Given the description of an element on the screen output the (x, y) to click on. 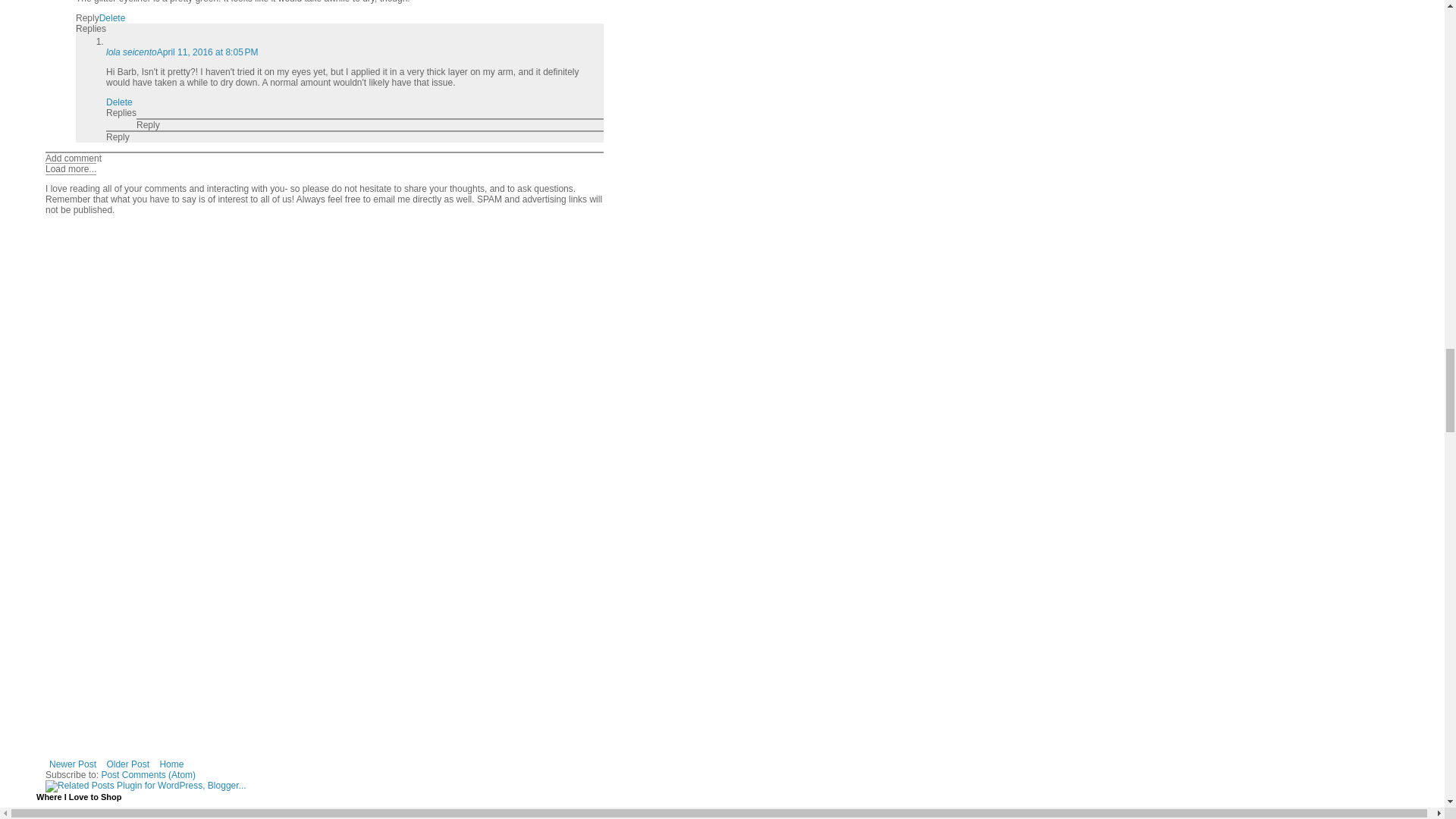
Replies (121, 112)
Reply (117, 136)
Older Post (126, 764)
Newer Post (72, 764)
Delete (112, 18)
lola seicento (131, 51)
Delete (119, 102)
Reply (148, 124)
Add comment (73, 158)
Replies (90, 28)
Reply (87, 18)
